Given the description of an element on the screen output the (x, y) to click on. 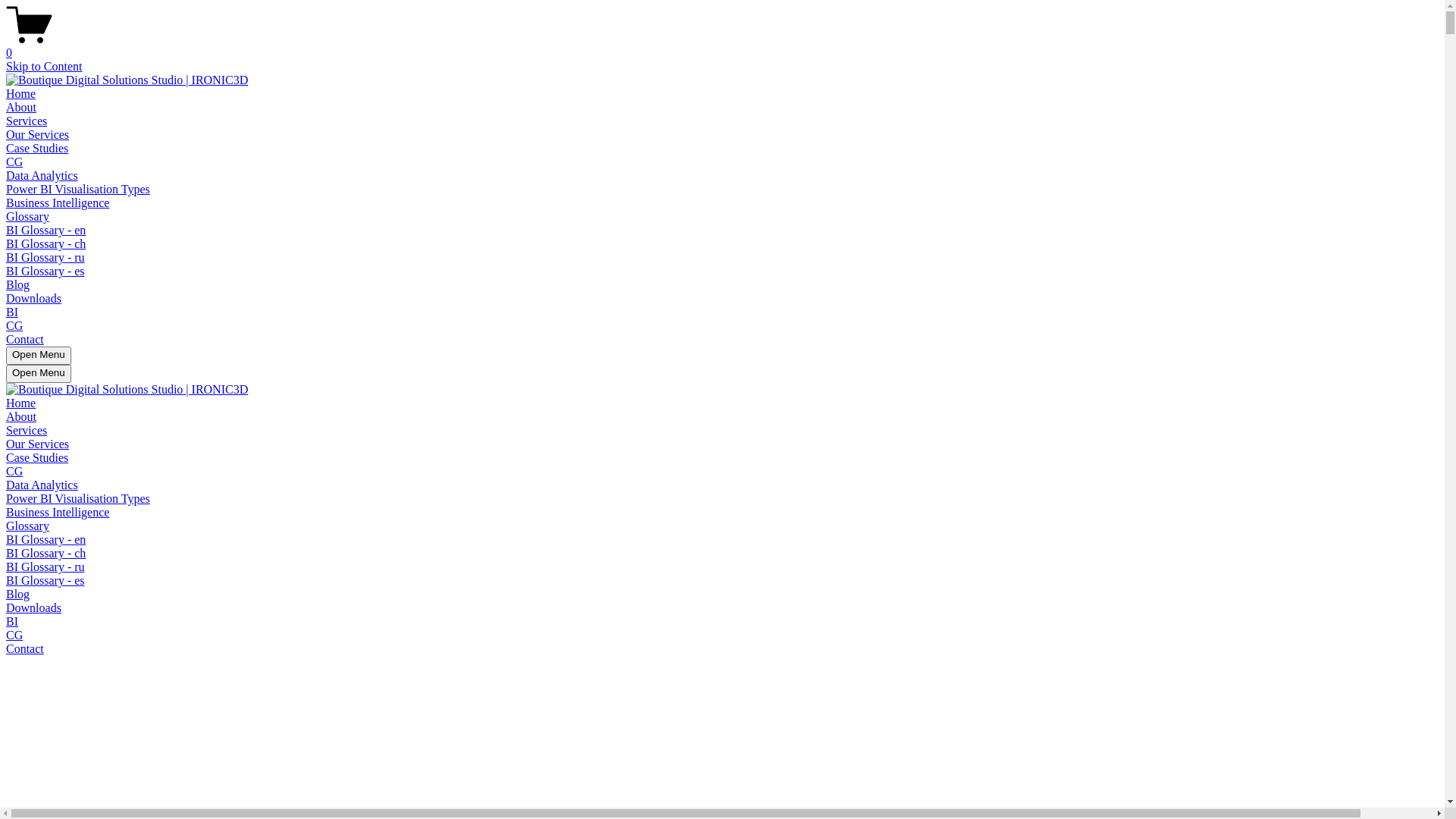
Services Element type: text (26, 429)
BI Glossary - ch Element type: text (45, 552)
Blog Element type: text (17, 593)
CG Element type: text (14, 161)
Our Services Element type: text (37, 443)
Open Menu Element type: text (38, 355)
Home Element type: text (20, 402)
Data Analytics Element type: text (42, 484)
Glossary Element type: text (27, 525)
About Element type: text (21, 106)
Power BI Visualisation Types Element type: text (78, 498)
BI Element type: text (12, 621)
Case Studies Element type: text (37, 457)
Skip to Content Element type: text (43, 65)
0 Element type: text (722, 45)
BI Glossary - en Element type: text (45, 229)
Downloads Element type: text (33, 607)
Case Studies Element type: text (37, 147)
About Element type: text (21, 416)
Services Element type: text (26, 120)
Downloads Element type: text (33, 297)
BI Glossary - ru Element type: text (45, 566)
BI Glossary - ru Element type: text (45, 257)
CG Element type: text (14, 634)
Blog Element type: text (17, 284)
Business Intelligence Element type: text (57, 511)
Glossary Element type: text (27, 216)
BI Glossary - es Element type: text (45, 580)
Business Intelligence Element type: text (57, 202)
CG Element type: text (14, 325)
BI Element type: text (12, 311)
BI Glossary - ch Element type: text (45, 243)
Contact Element type: text (24, 648)
Open Menu Element type: text (38, 373)
BI Glossary - en Element type: text (45, 539)
Contact Element type: text (24, 338)
Data Analytics Element type: text (42, 175)
Our Services Element type: text (37, 134)
Home Element type: text (20, 93)
BI Glossary - es Element type: text (45, 270)
CG Element type: text (14, 470)
Power BI Visualisation Types Element type: text (78, 188)
